Given the description of an element on the screen output the (x, y) to click on. 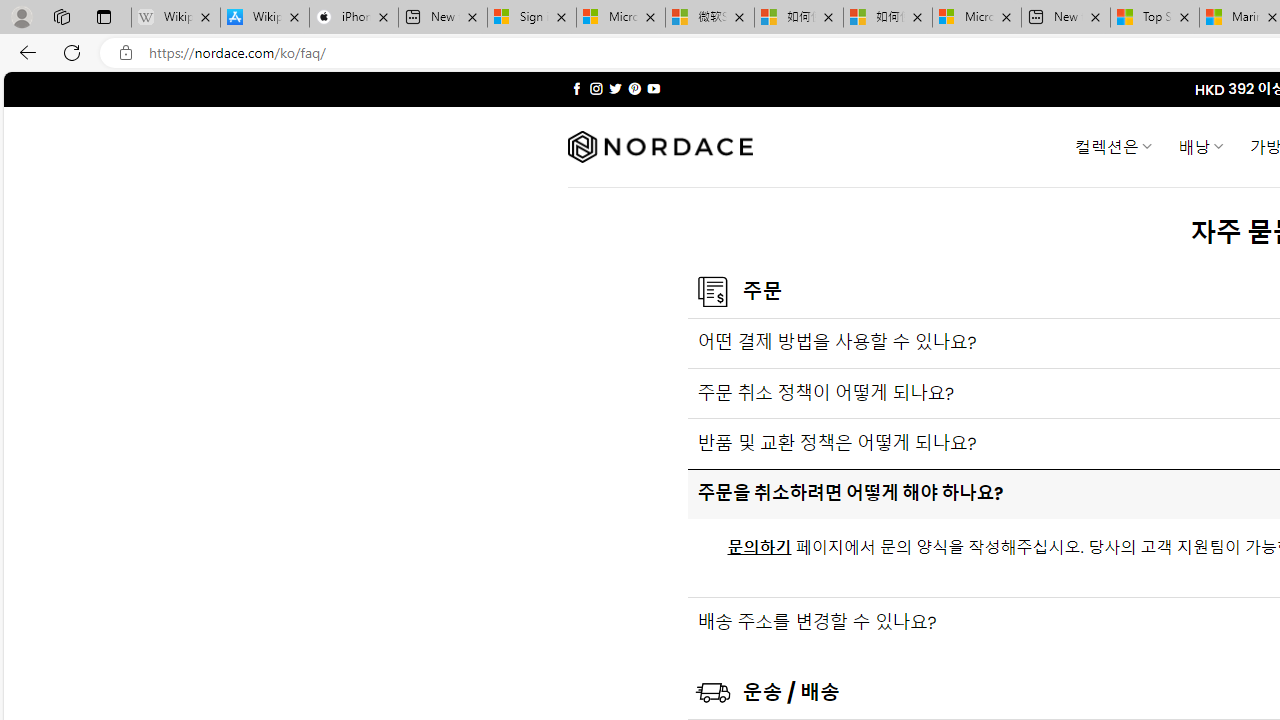
Follow on Instagram (596, 88)
Follow on Twitter (615, 88)
